Given the description of an element on the screen output the (x, y) to click on. 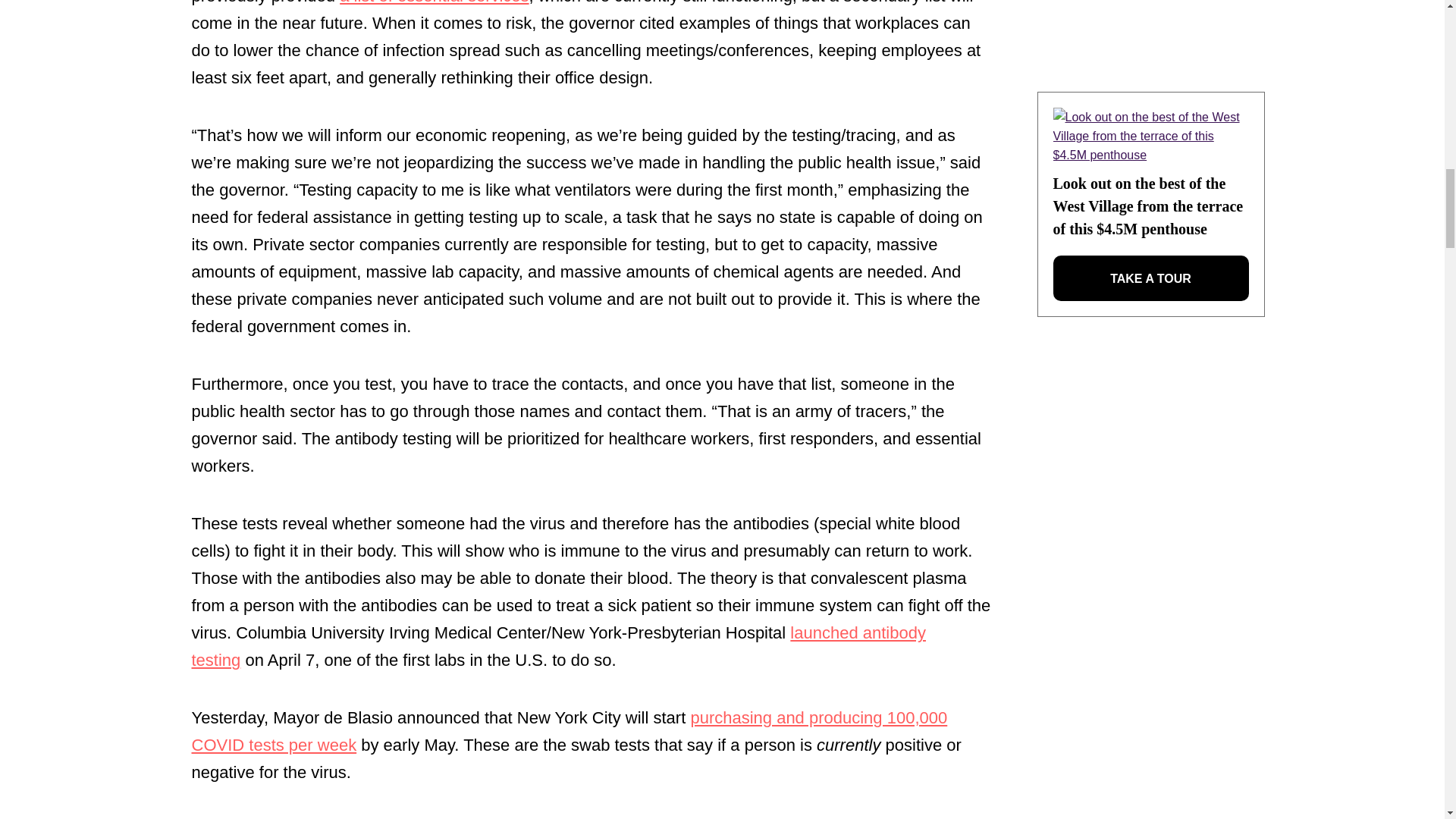
a list of essential services (433, 2)
purchasing and producing 100,000 COVID tests per week (568, 731)
launched antibody testing (557, 646)
